Given the description of an element on the screen output the (x, y) to click on. 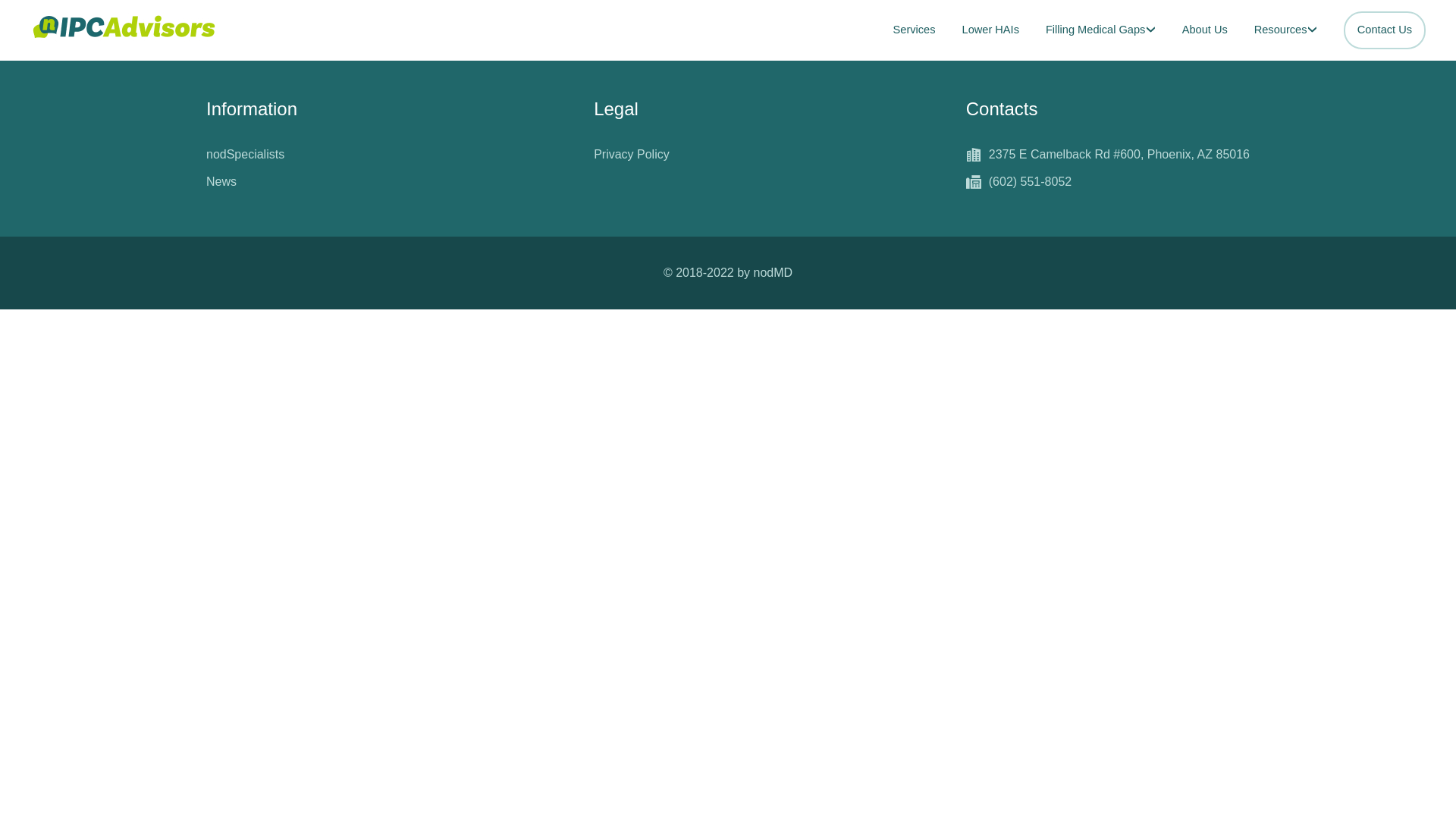
nodSpecialists (244, 154)
About Us (1204, 30)
Filling Medical Gaps (1100, 30)
Services (914, 30)
Lower HAIs (990, 30)
Contact Us (1384, 30)
News (220, 181)
Privacy Policy (631, 154)
Resources (1285, 30)
